Given the description of an element on the screen output the (x, y) to click on. 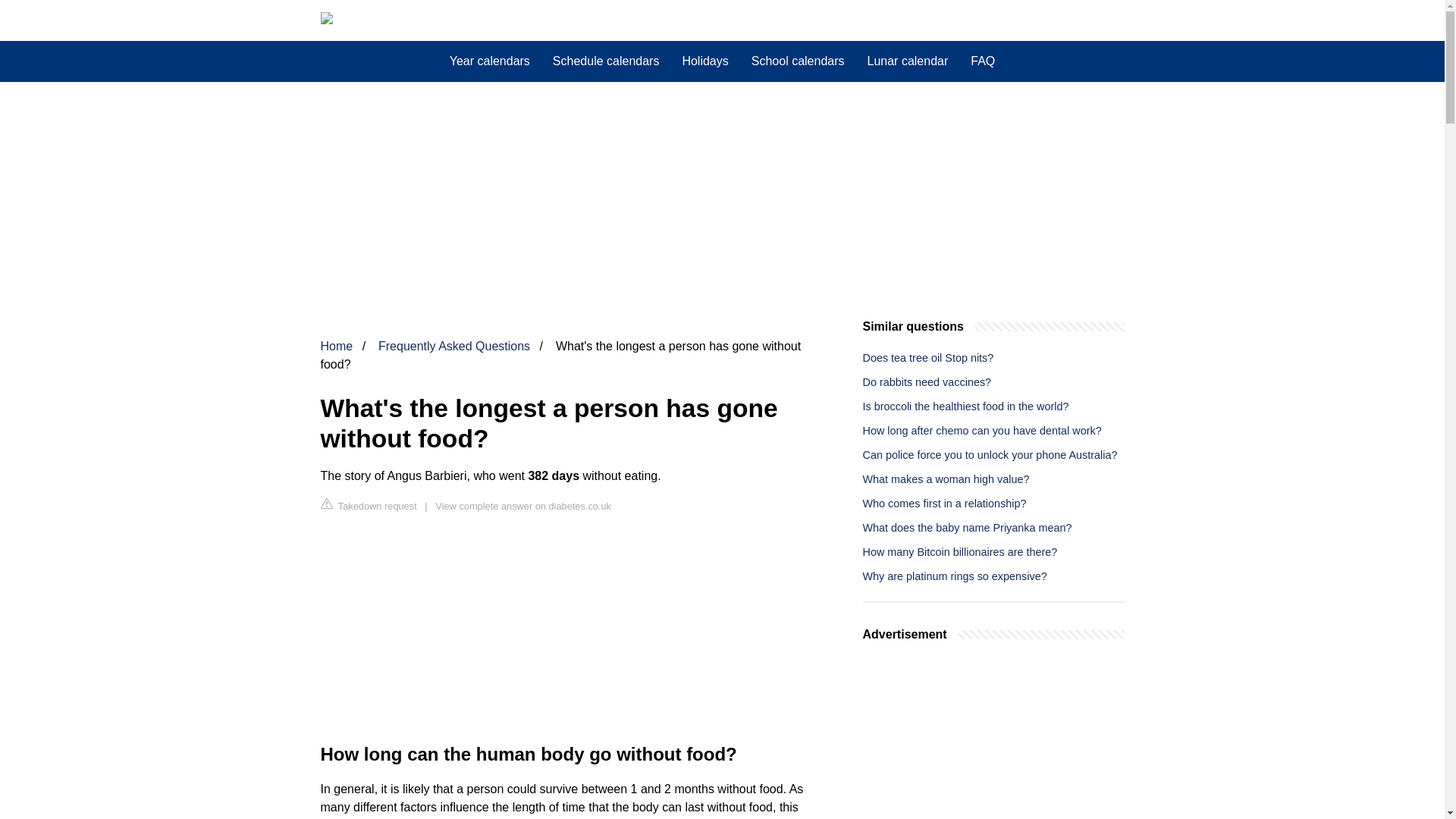
Schedule calendars (606, 60)
Takedown request (368, 505)
Home (336, 345)
School calendars (797, 60)
Frequently Asked Questions (453, 345)
Holidays (704, 60)
Year calendars (489, 60)
Lunar calendar (907, 60)
FAQ (982, 60)
View complete answer on diabetes.co.uk (523, 505)
